Given the description of an element on the screen output the (x, y) to click on. 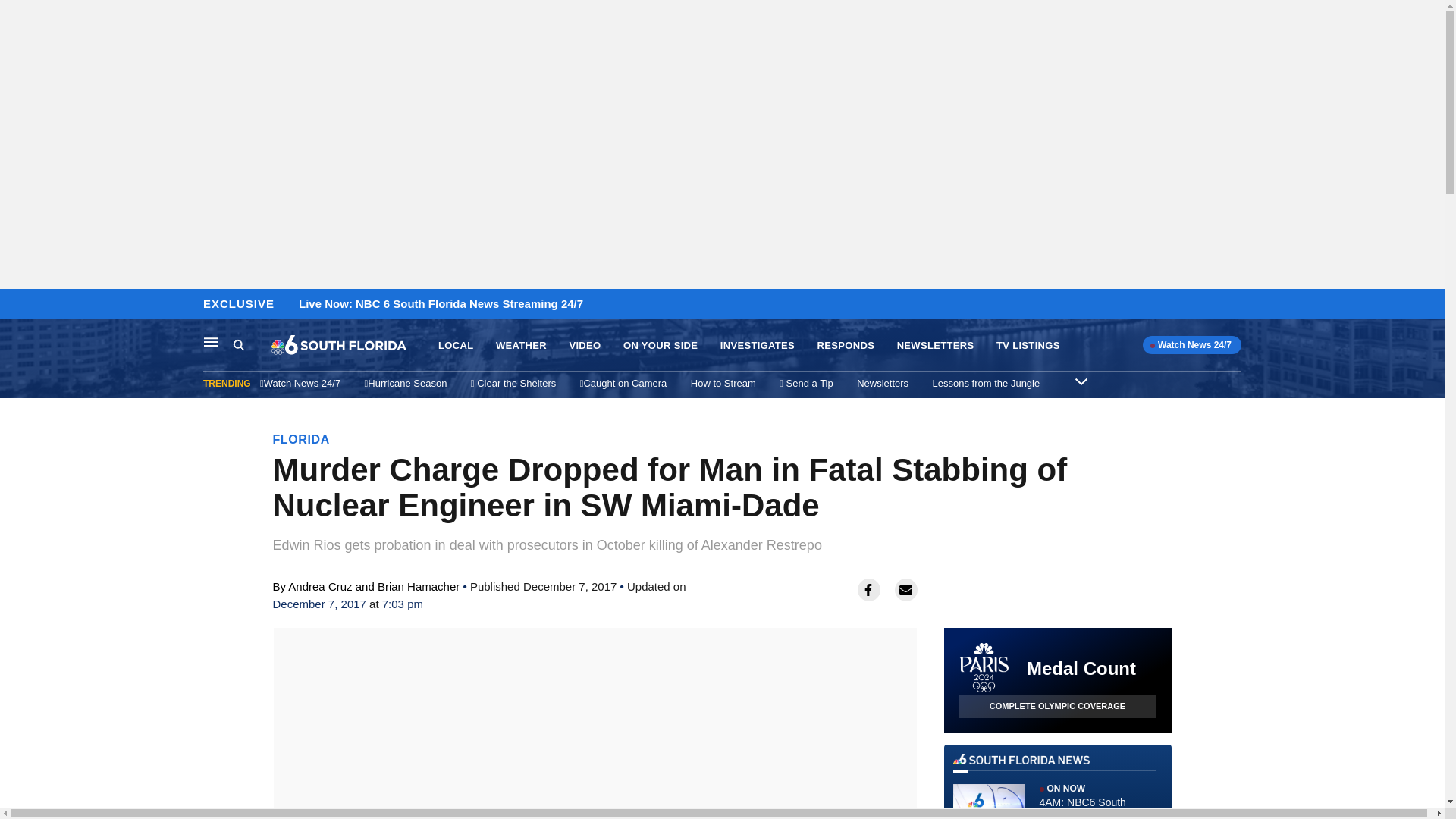
INVESTIGATES (757, 345)
Lessons from the Jungle (987, 383)
VIDEO (584, 345)
Expand (1081, 381)
Newsletters (882, 383)
COMPLETE OLYMPIC COVERAGE (1057, 706)
WEATHER (521, 345)
Skip to content (16, 304)
Search (252, 345)
